Given the description of an element on the screen output the (x, y) to click on. 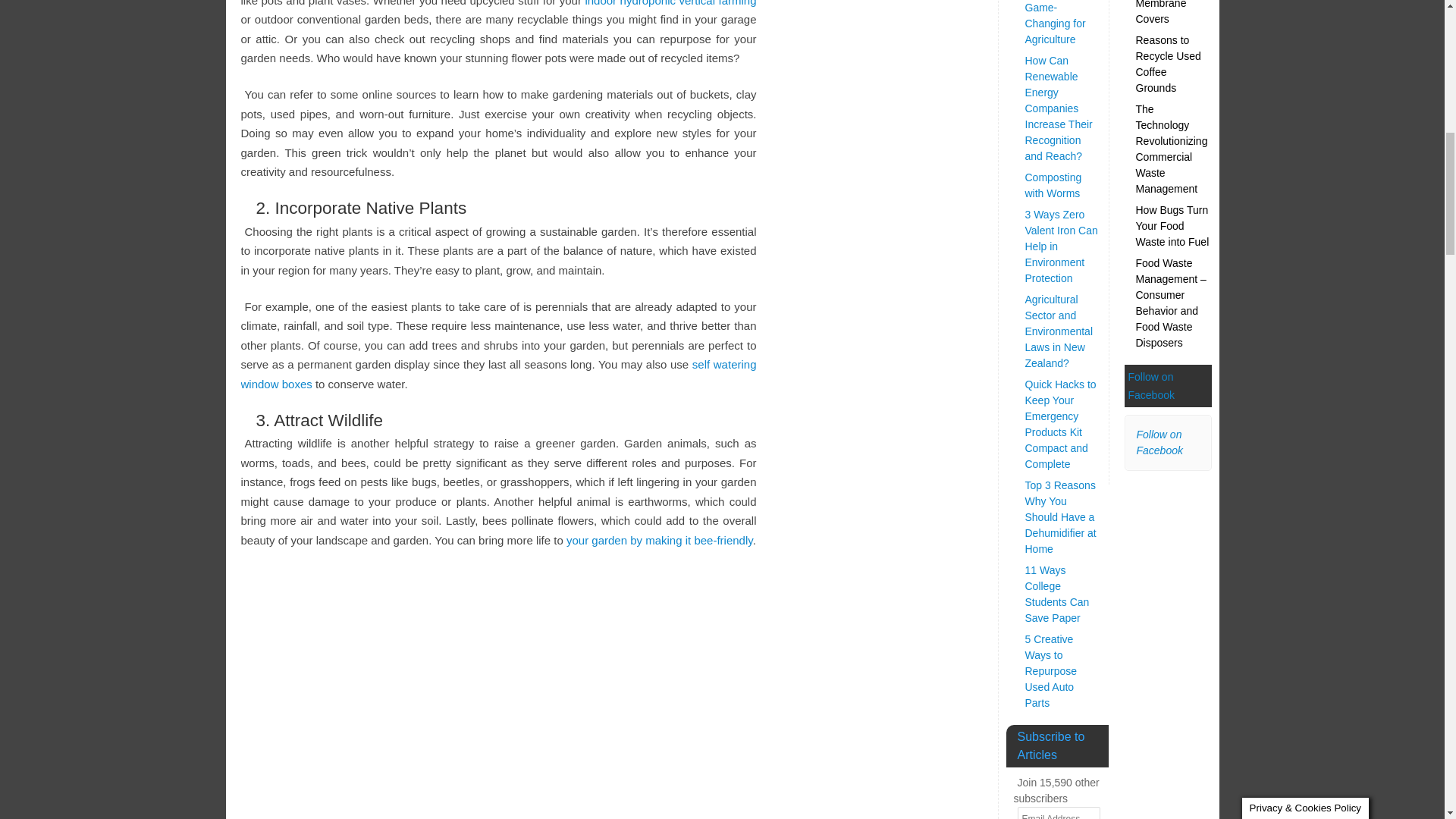
your garden by making it bee-friendly (659, 540)
self watering window boxes (499, 373)
indoor hydroponic vertical farming (670, 3)
